Given the description of an element on the screen output the (x, y) to click on. 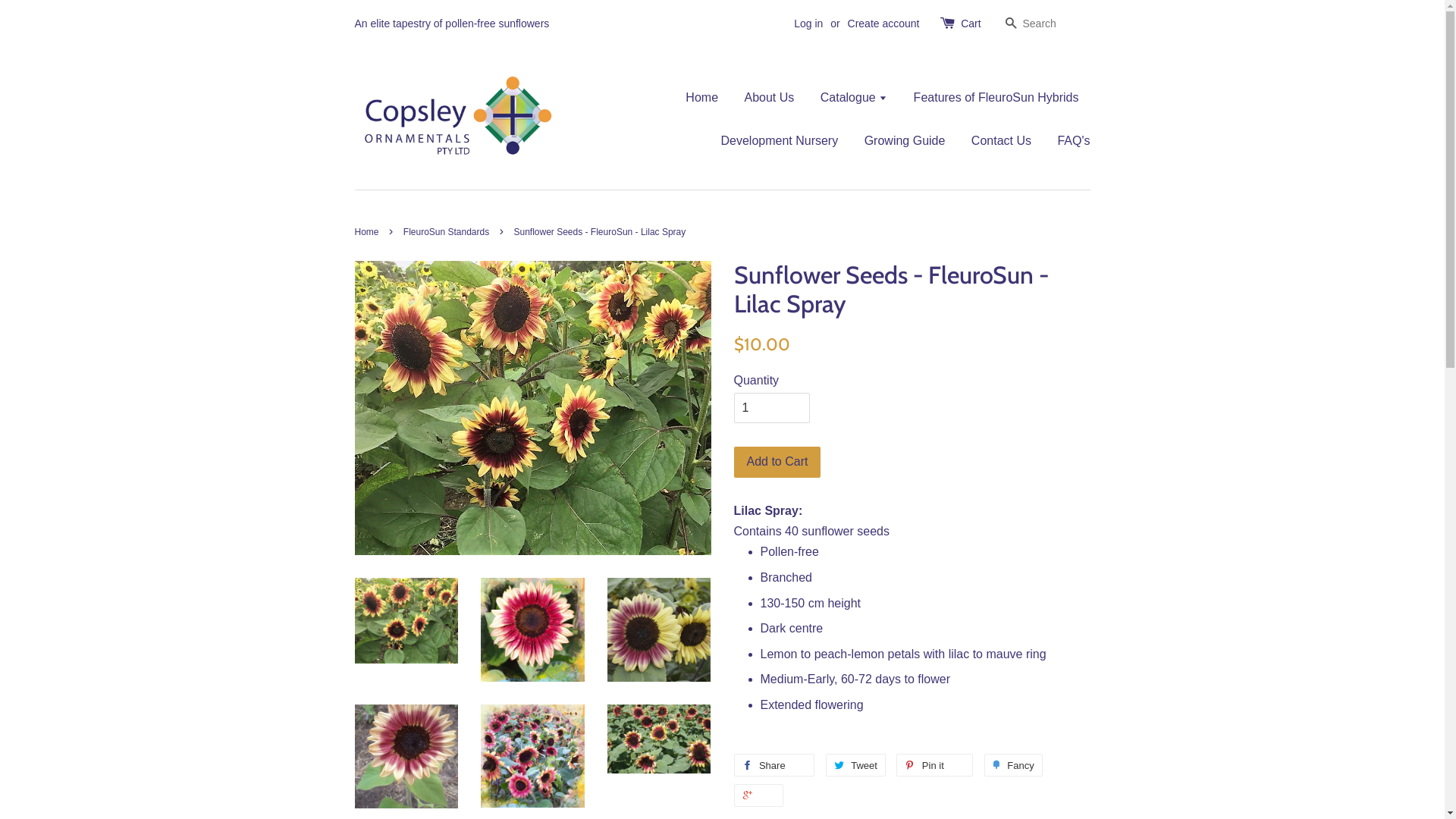
Log in Element type: text (807, 23)
FAQ's Element type: text (1067, 140)
Add to Cart Element type: text (777, 461)
Fancy Element type: text (1013, 764)
Growing Guide Element type: text (905, 140)
Development Nursery Element type: text (779, 140)
Search Element type: text (1010, 24)
About Us Element type: text (768, 97)
Cart Element type: text (970, 24)
Features of FleuroSun Hybrids Element type: text (996, 97)
Tweet Element type: text (855, 764)
Share Element type: text (774, 764)
FleuroSun Standards Element type: text (447, 231)
Contact Us Element type: text (1001, 140)
Create account Element type: text (883, 23)
Home Element type: text (707, 97)
Pin it Element type: text (934, 764)
Home Element type: text (368, 231)
Catalogue Element type: text (853, 97)
